Given the description of an element on the screen output the (x, y) to click on. 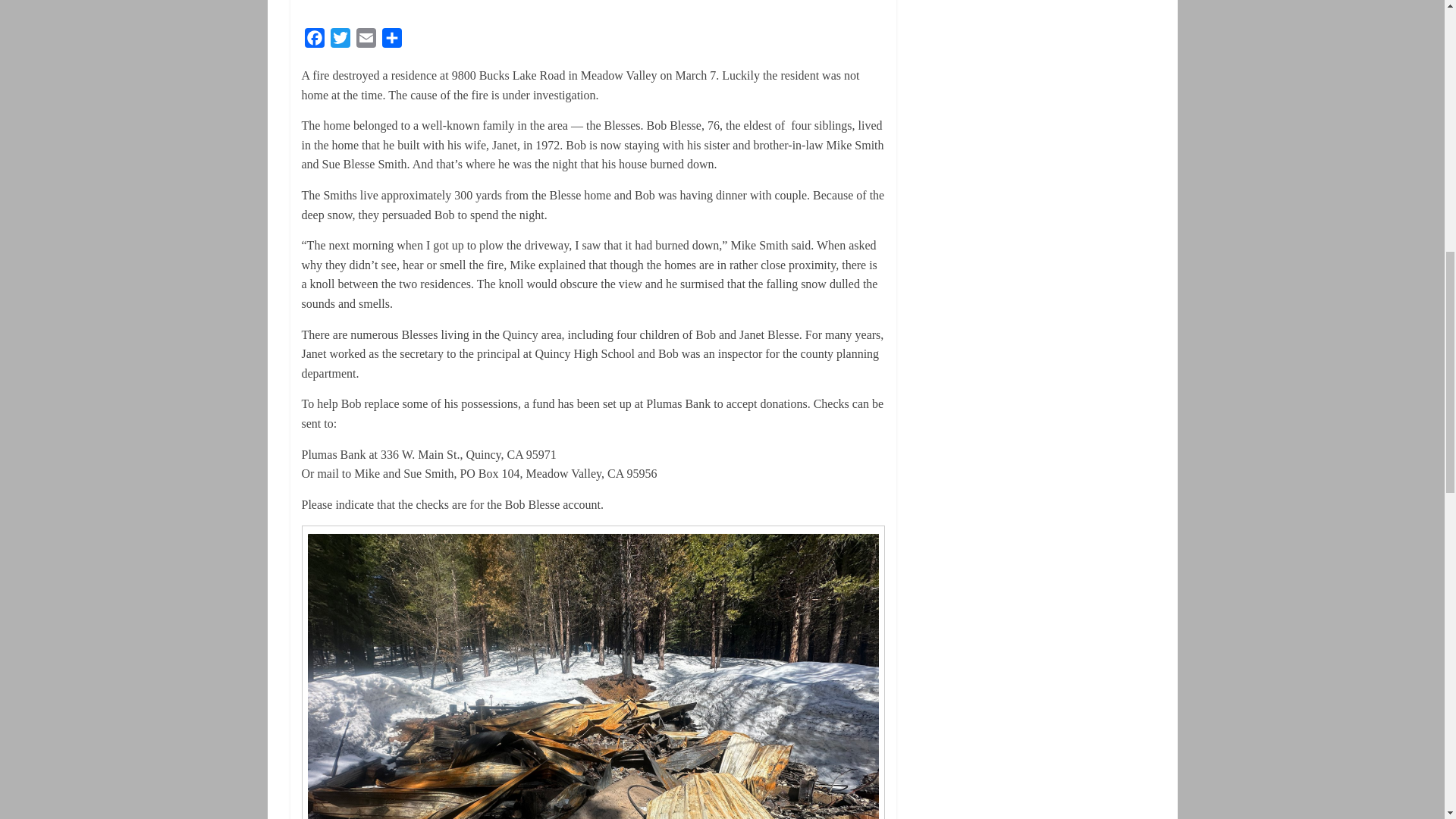
Twitter (340, 40)
Facebook (314, 40)
Email (365, 40)
